Given the description of an element on the screen output the (x, y) to click on. 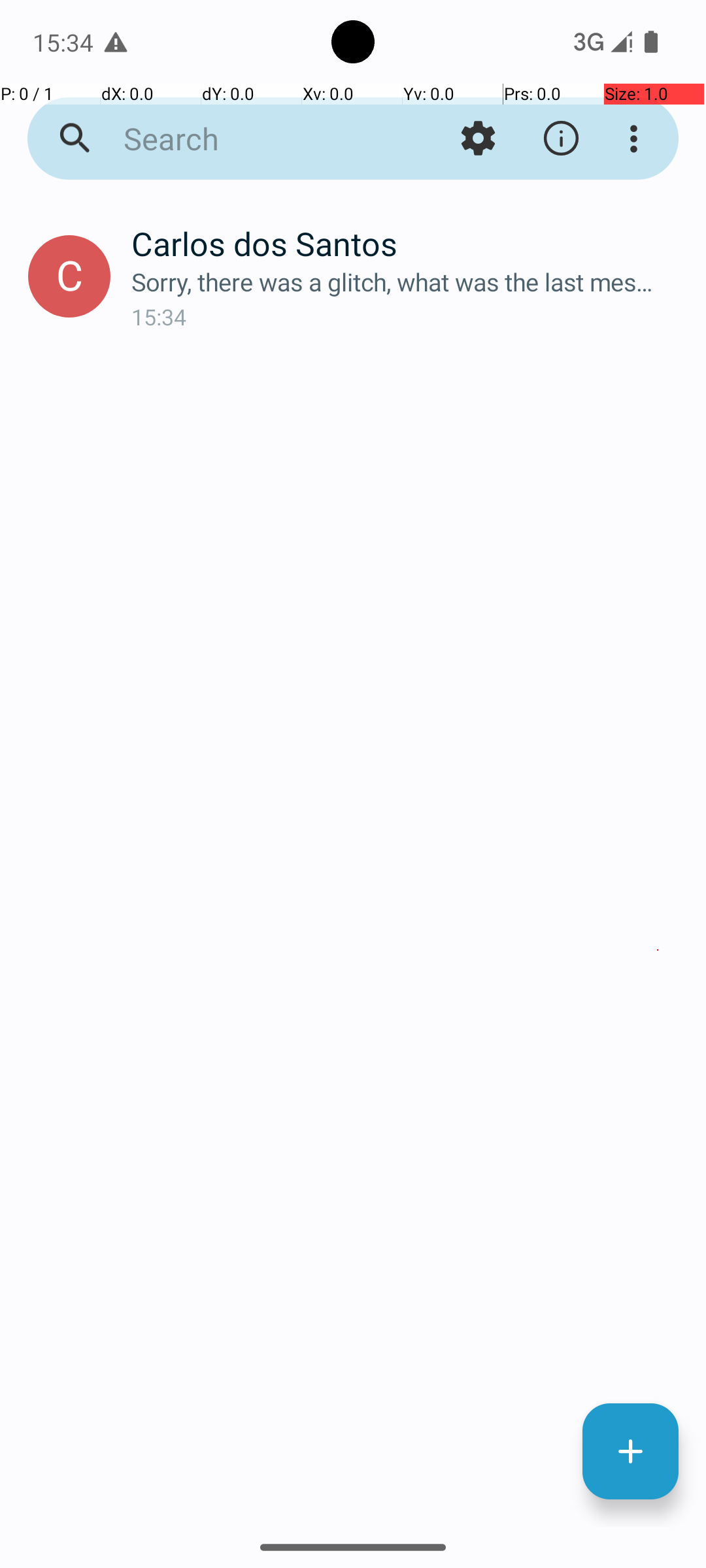
Carlos dos Santos Element type: android.widget.TextView (408, 242)
Sorry, there was a glitch, what was the last message you sent me? Element type: android.widget.TextView (408, 281)
